Given the description of an element on the screen output the (x, y) to click on. 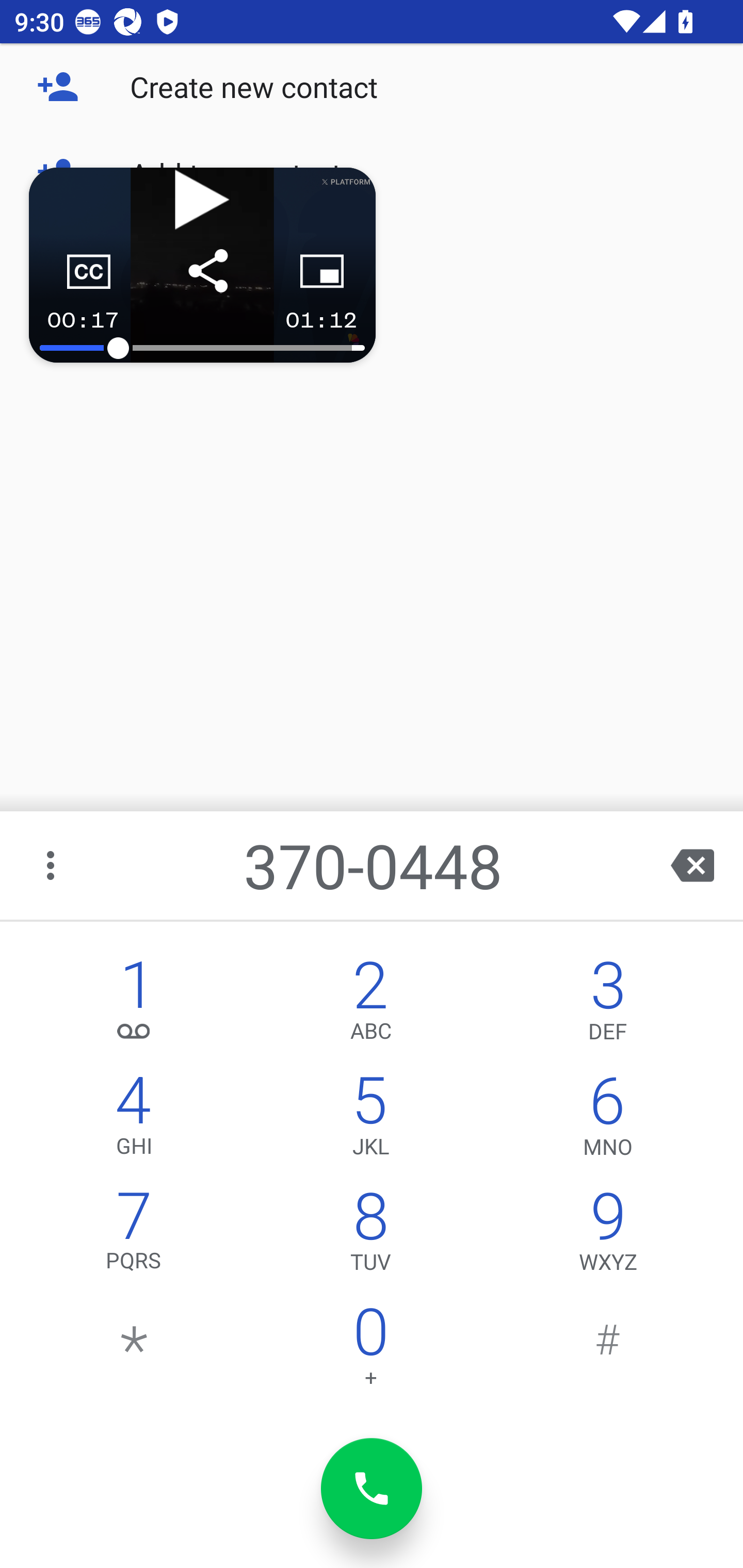
Create new contact (371, 86)
370-0448 (372, 865)
backspace (692, 865)
More options (52, 865)
1, 1 (133, 1005)
2,ABC 2 ABC (370, 1005)
3,DEF 3 DEF (607, 1005)
4,GHI 4 GHI (133, 1120)
5,JKL 5 JKL (370, 1120)
6,MNO 6 MNO (607, 1120)
7,PQRS 7 PQRS (133, 1235)
8,TUV 8 TUV (370, 1235)
9,WXYZ 9 WXYZ (607, 1235)
* (133, 1351)
0 0 + (370, 1351)
# (607, 1351)
dial (371, 1488)
